Given the description of an element on the screen output the (x, y) to click on. 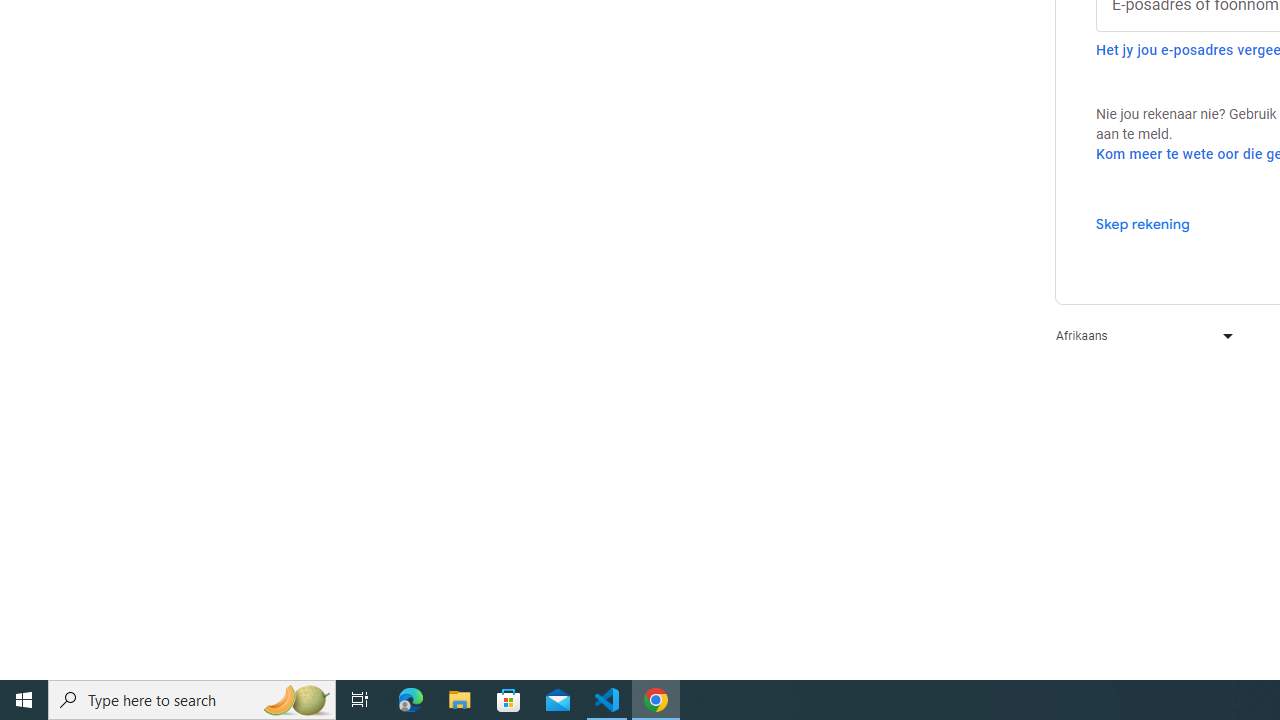
Start (24, 699)
Microsoft Edge (411, 699)
Skep rekening (1142, 223)
Visual Studio Code - 1 running window (607, 699)
Search highlights icon opens search home window (295, 699)
Type here to search (191, 699)
Afrikaans (1139, 335)
Microsoft Store (509, 699)
Google Chrome - 1 running window (656, 699)
File Explorer (460, 699)
Task View (359, 699)
